Given the description of an element on the screen output the (x, y) to click on. 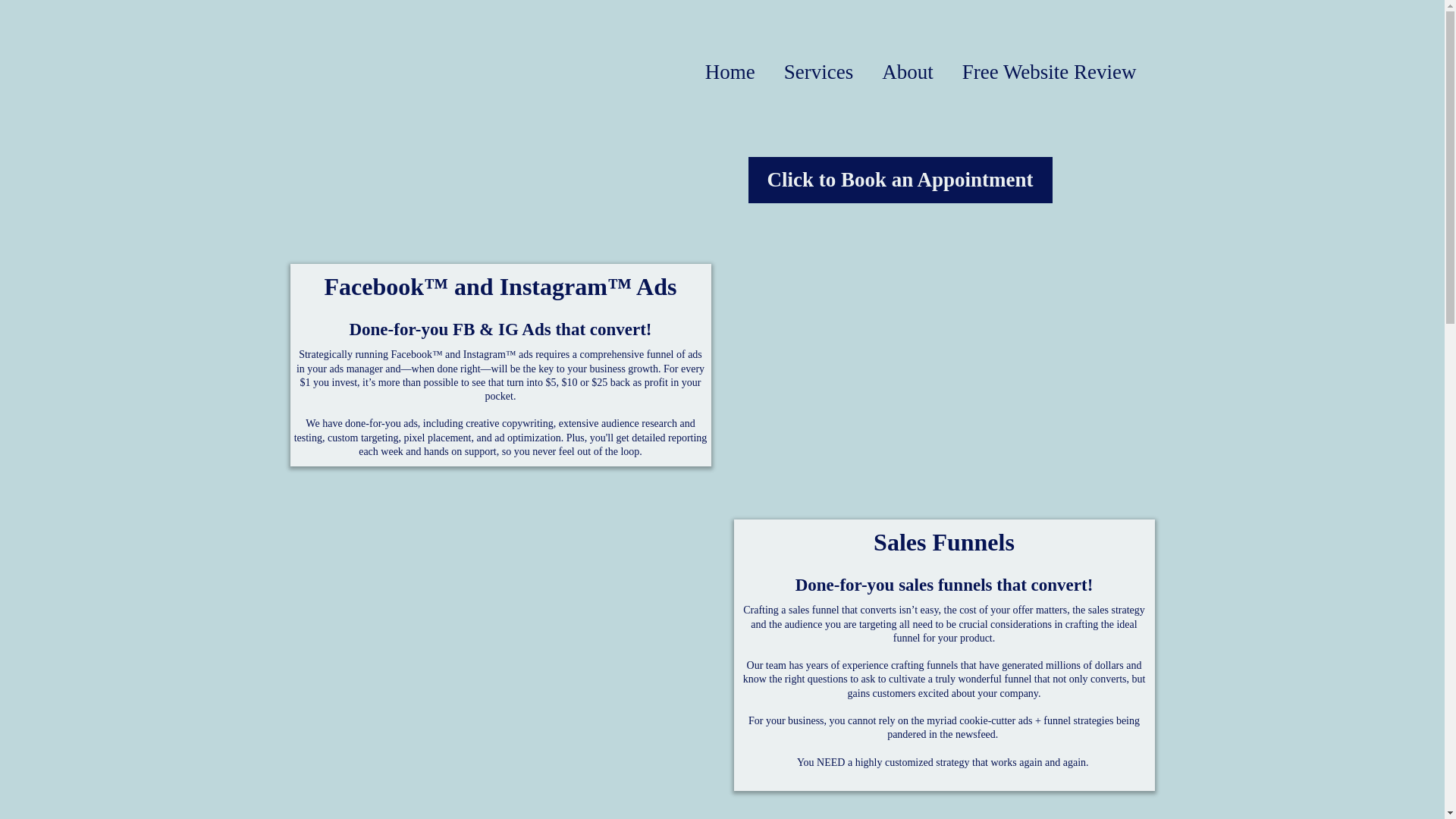
Home (730, 72)
Free Website Review (1049, 72)
Services (818, 72)
Click to Book an Appointment (900, 180)
About (907, 72)
